Given the description of an element on the screen output the (x, y) to click on. 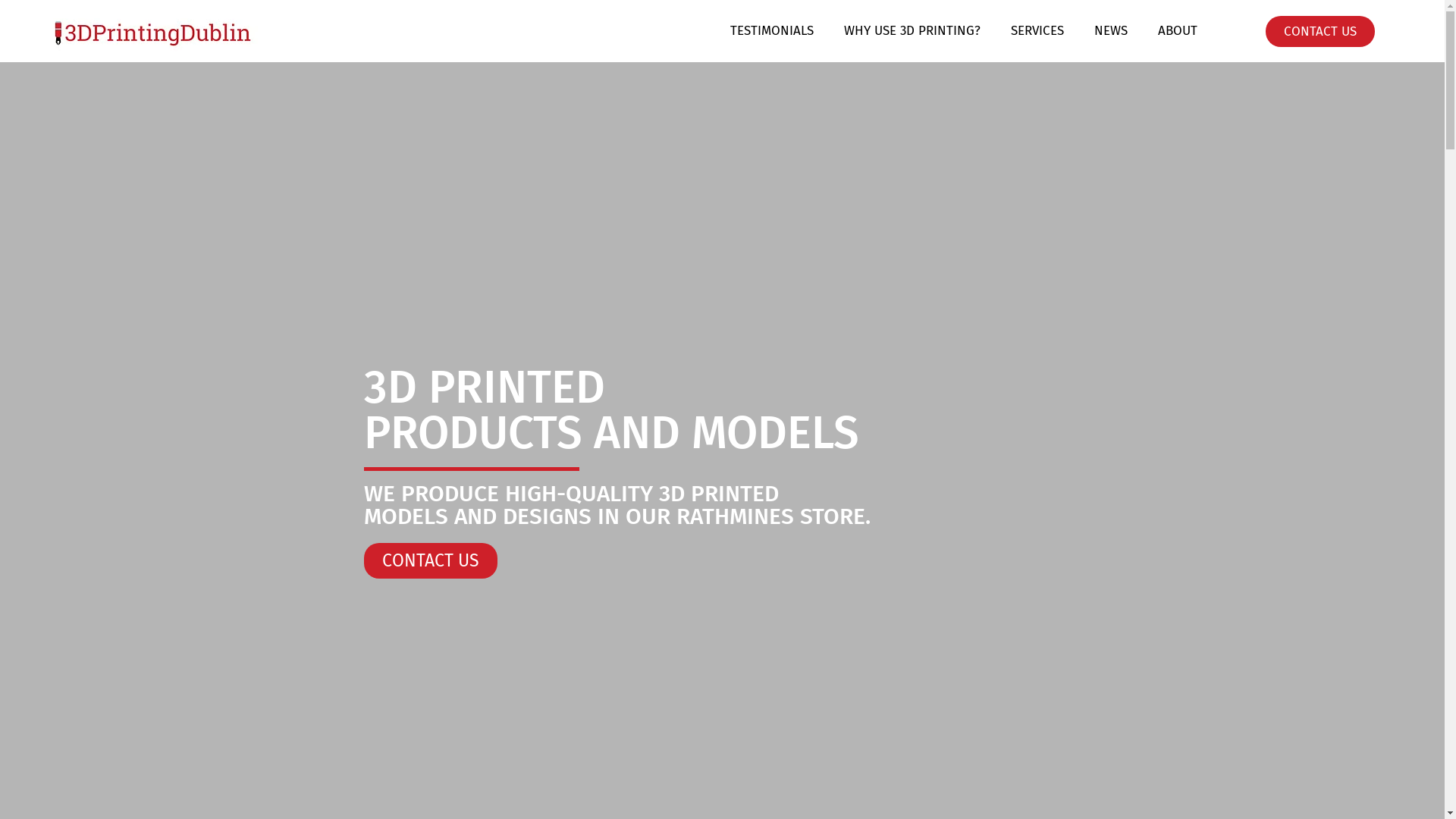
ABOUT Element type: text (1177, 30)
TESTIMONIALS Element type: text (771, 30)
SERVICES Element type: text (1037, 30)
CONTACT US Element type: text (1319, 30)
NEWS Element type: text (1110, 30)
CONTACT US Element type: text (430, 560)
WHY USE 3D PRINTING? Element type: text (911, 30)
